Given the description of an element on the screen output the (x, y) to click on. 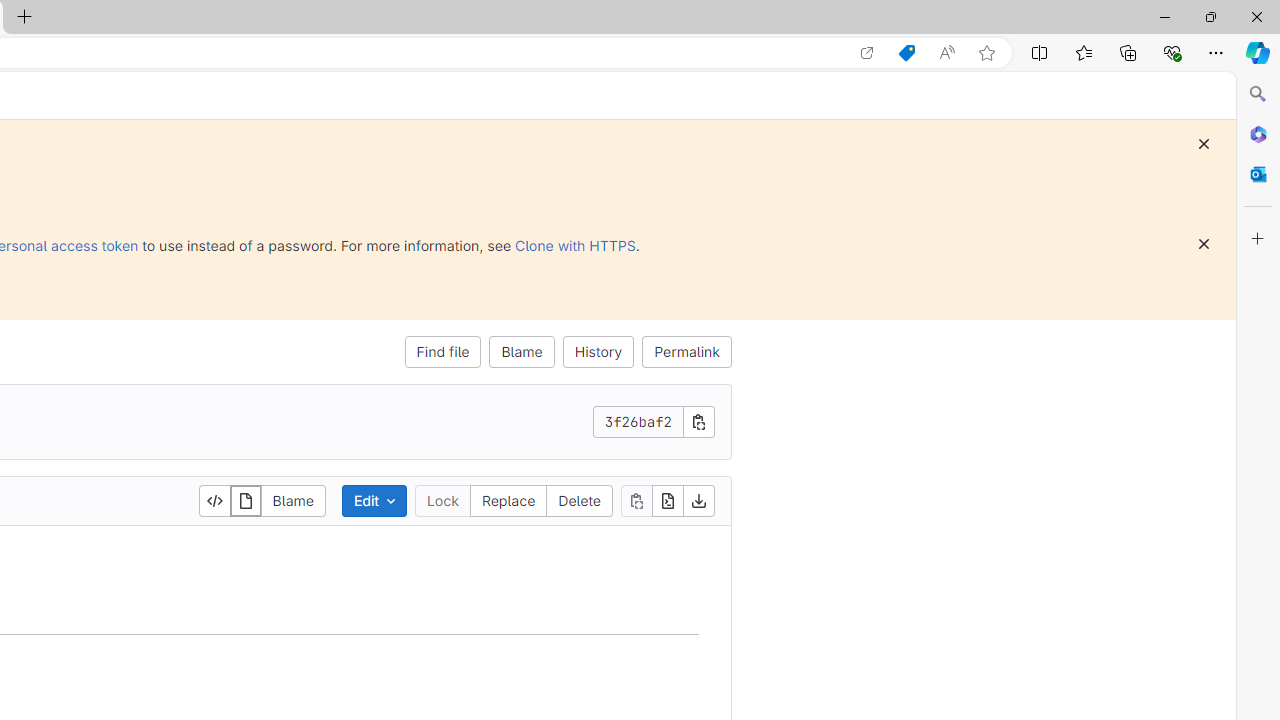
Open raw (667, 500)
Permalink (687, 351)
Copy file contents (636, 500)
Blame (521, 351)
Dismiss (1203, 243)
Copy commit SHA (699, 421)
Delete (579, 500)
Find file (443, 351)
